Given the description of an element on the screen output the (x, y) to click on. 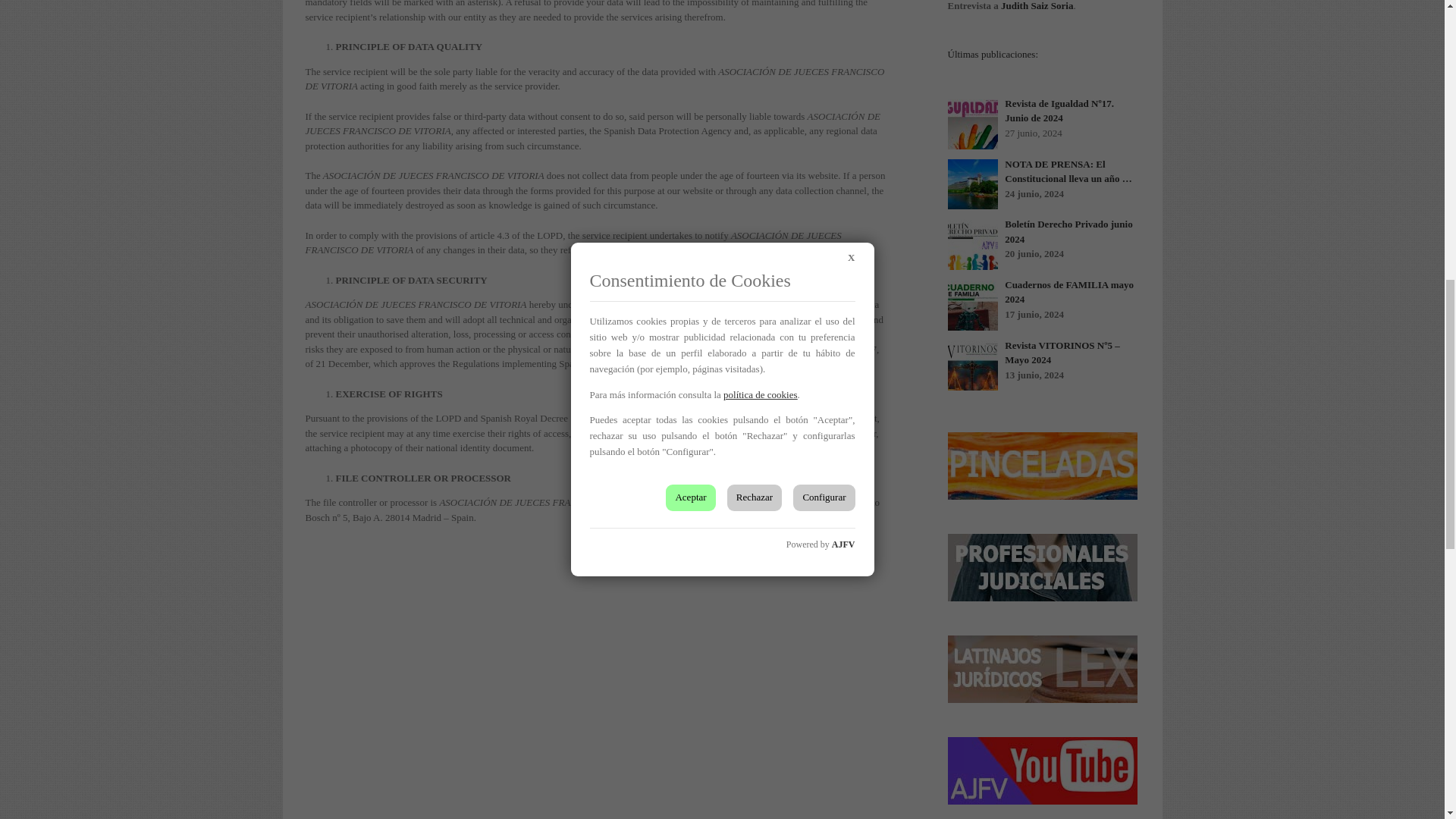
Profesionales Judiciales (1042, 567)
Videos AJFV (1042, 770)
Pinceladas (1042, 465)
